Given the description of an element on the screen output the (x, y) to click on. 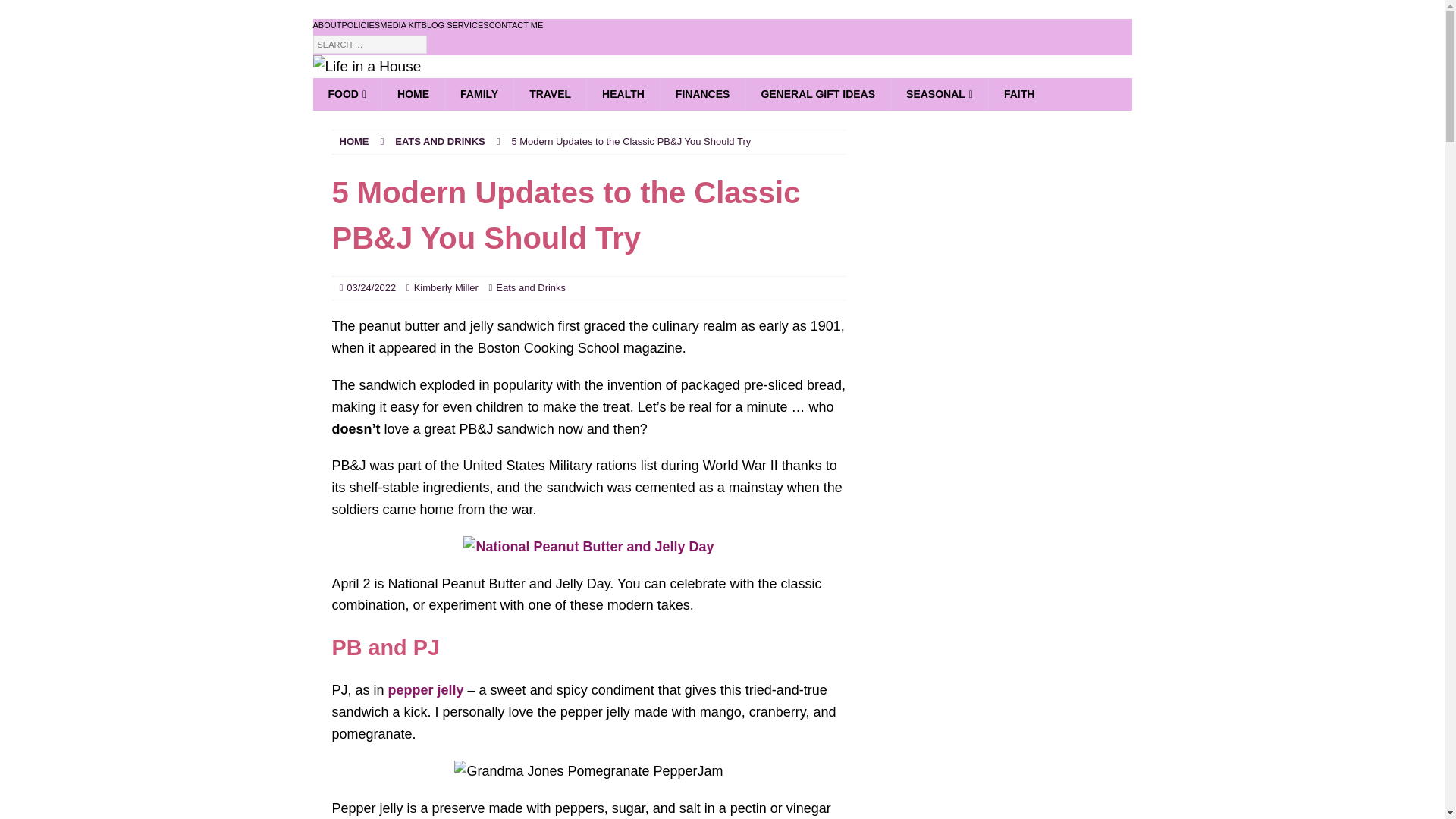
pepper jelly (424, 689)
Eats and Drinks (531, 287)
TRAVEL (549, 93)
Kimberly Miller (446, 287)
POLICIES (360, 25)
GENERAL GIFT IDEAS (816, 93)
MEDIA KIT (400, 25)
HOME (412, 93)
FINANCES (702, 93)
BLOG SERVICES (455, 25)
HOME (354, 141)
FAITH (1018, 93)
FAMILY (478, 93)
Search (56, 11)
FOOD (347, 93)
